Given the description of an element on the screen output the (x, y) to click on. 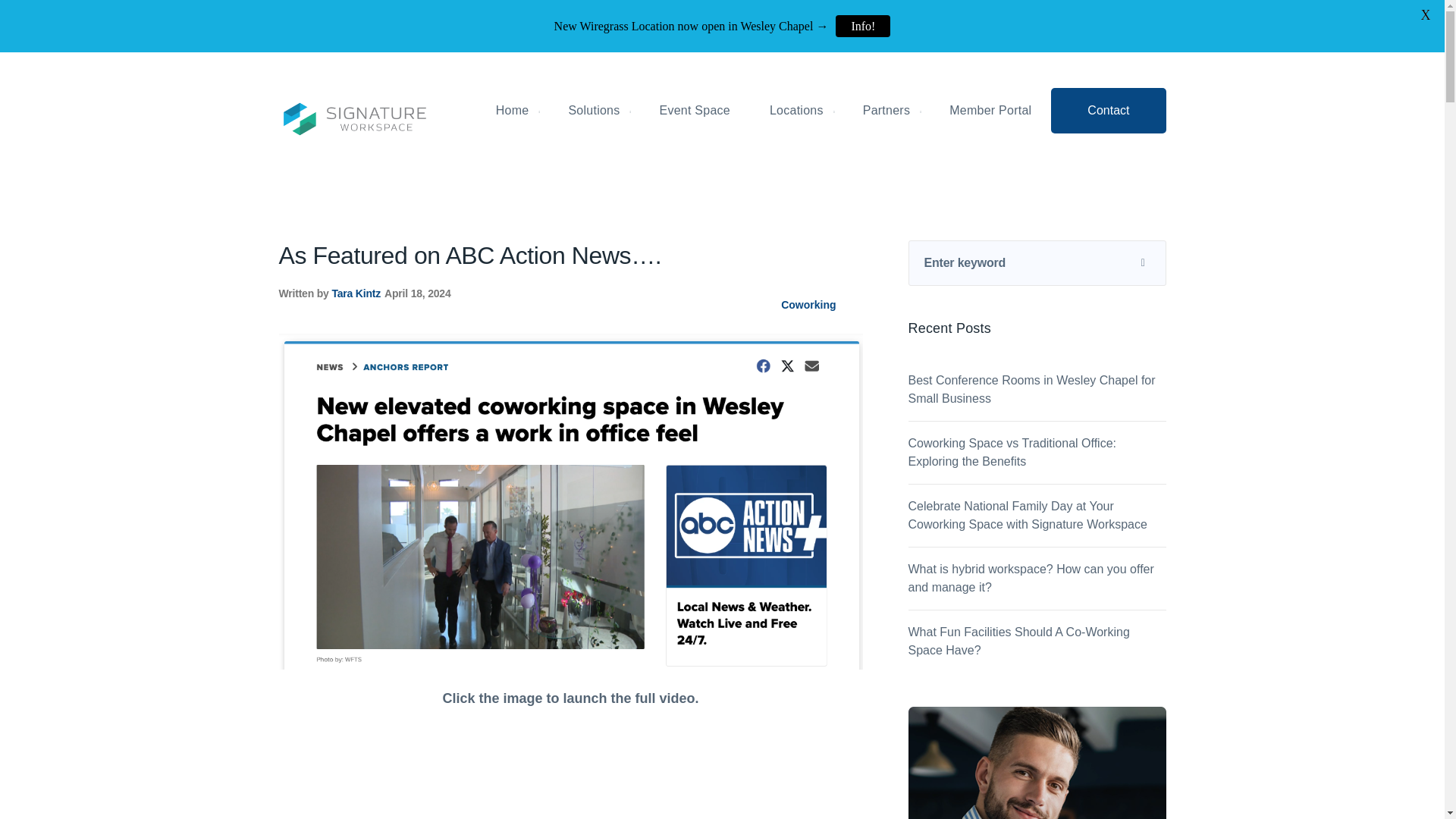
Signature Workspace (354, 118)
Locations (796, 110)
Contact (1108, 110)
Partners (886, 110)
Coworking (807, 304)
View all posts by Tara Kintz (355, 293)
Solutions (593, 110)
Member Portal (990, 110)
Tara Kintz (355, 293)
Home (512, 110)
Event Space (693, 110)
